Given the description of an element on the screen output the (x, y) to click on. 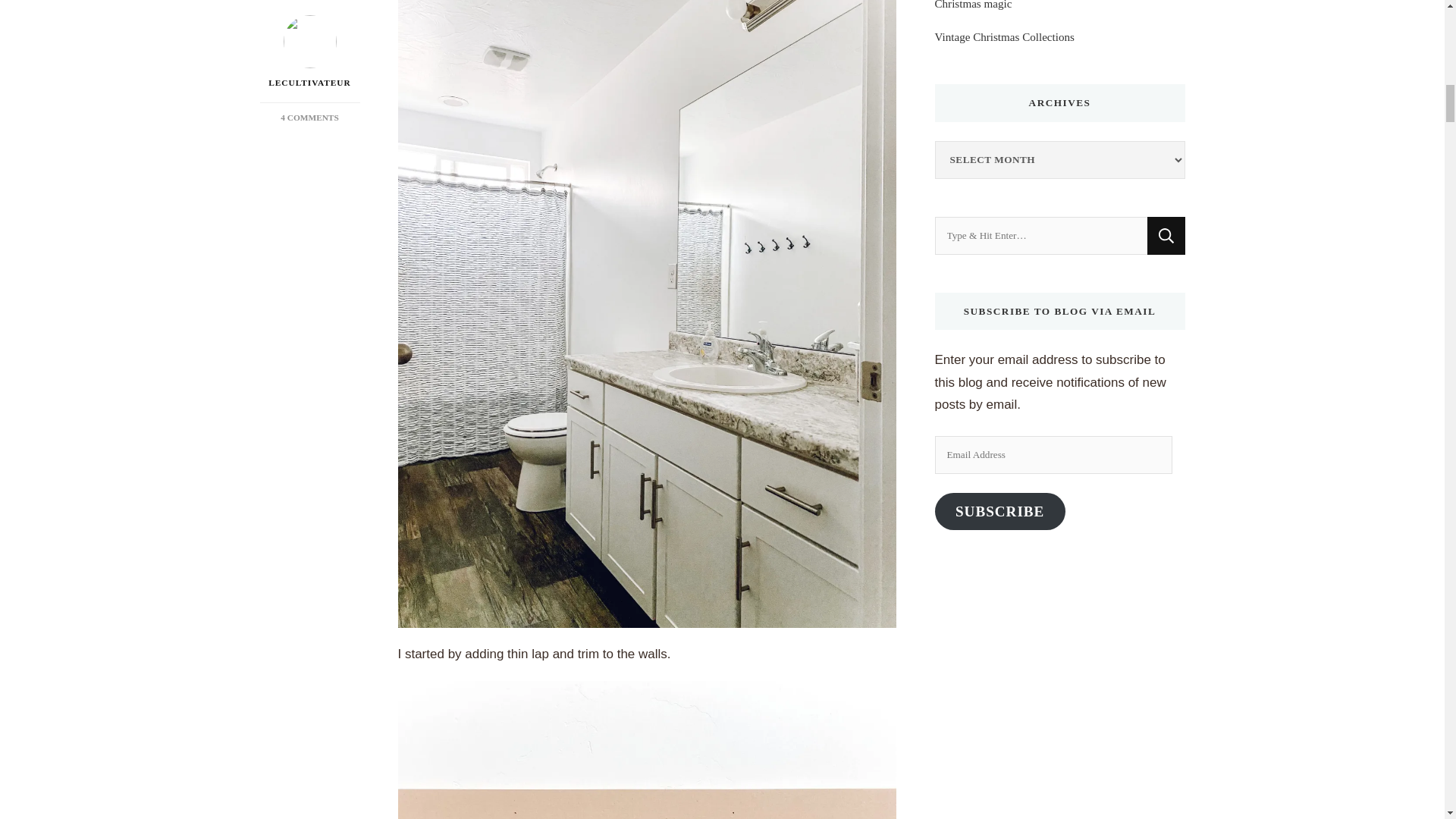
Search (1166, 235)
Search (1166, 235)
